Given the description of an element on the screen output the (x, y) to click on. 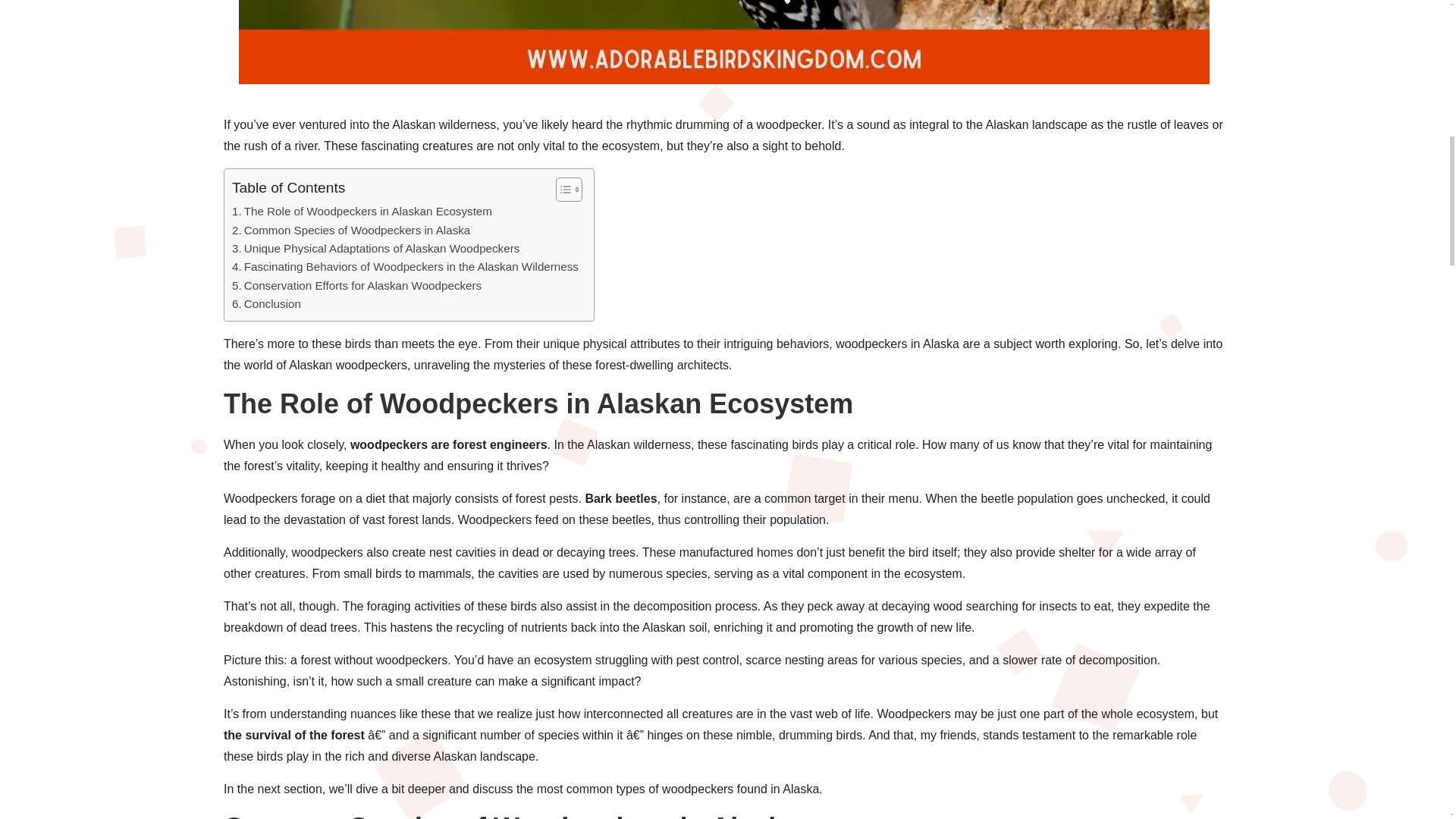
Unique Physical Adaptations of Alaskan Woodpeckers (375, 248)
Conclusion (266, 303)
Common Species of Woodpeckers in Alaska (350, 230)
The Role of Woodpeckers in Alaskan Ecosystem (361, 211)
Conservation Efforts for Alaskan Woodpeckers (356, 285)
Unique Physical Adaptations of Alaskan Woodpeckers (375, 248)
Conclusion (266, 303)
Common Species of Woodpeckers in Alaska (350, 230)
The Role of Woodpeckers in Alaskan Ecosystem (361, 211)
Conservation Efforts for Alaskan Woodpeckers (356, 285)
